Given the description of an element on the screen output the (x, y) to click on. 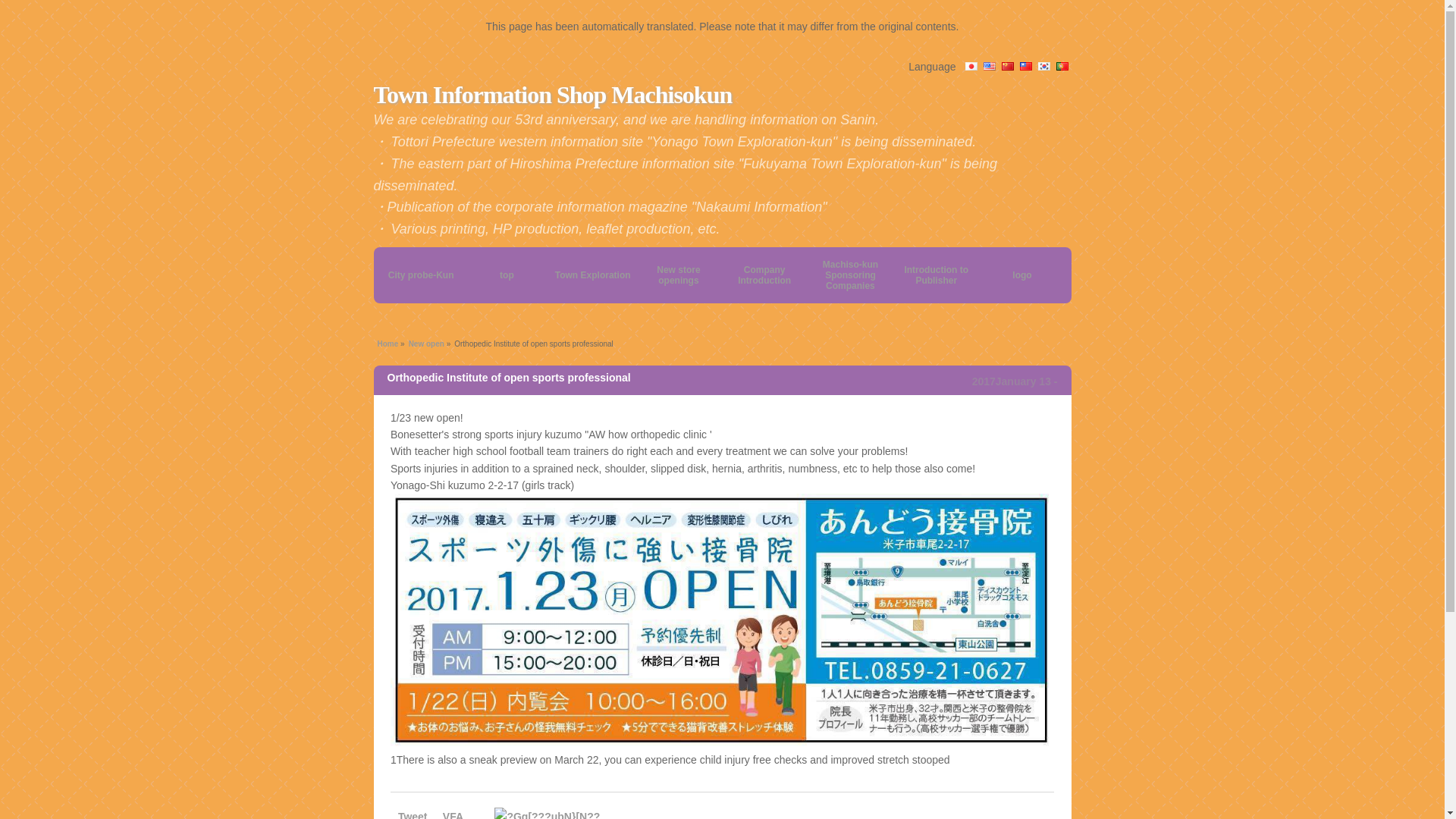
logo (1021, 274)
top (507, 274)
Town Information Shop Machisokun (552, 94)
Machiso-kun Sponsoring Companies (850, 275)
Introduction to Publisher (935, 275)
Tweet (412, 814)
English (988, 66)
Skip to content (410, 267)
Portugues (1061, 66)
VFA (452, 814)
